Given the description of an element on the screen output the (x, y) to click on. 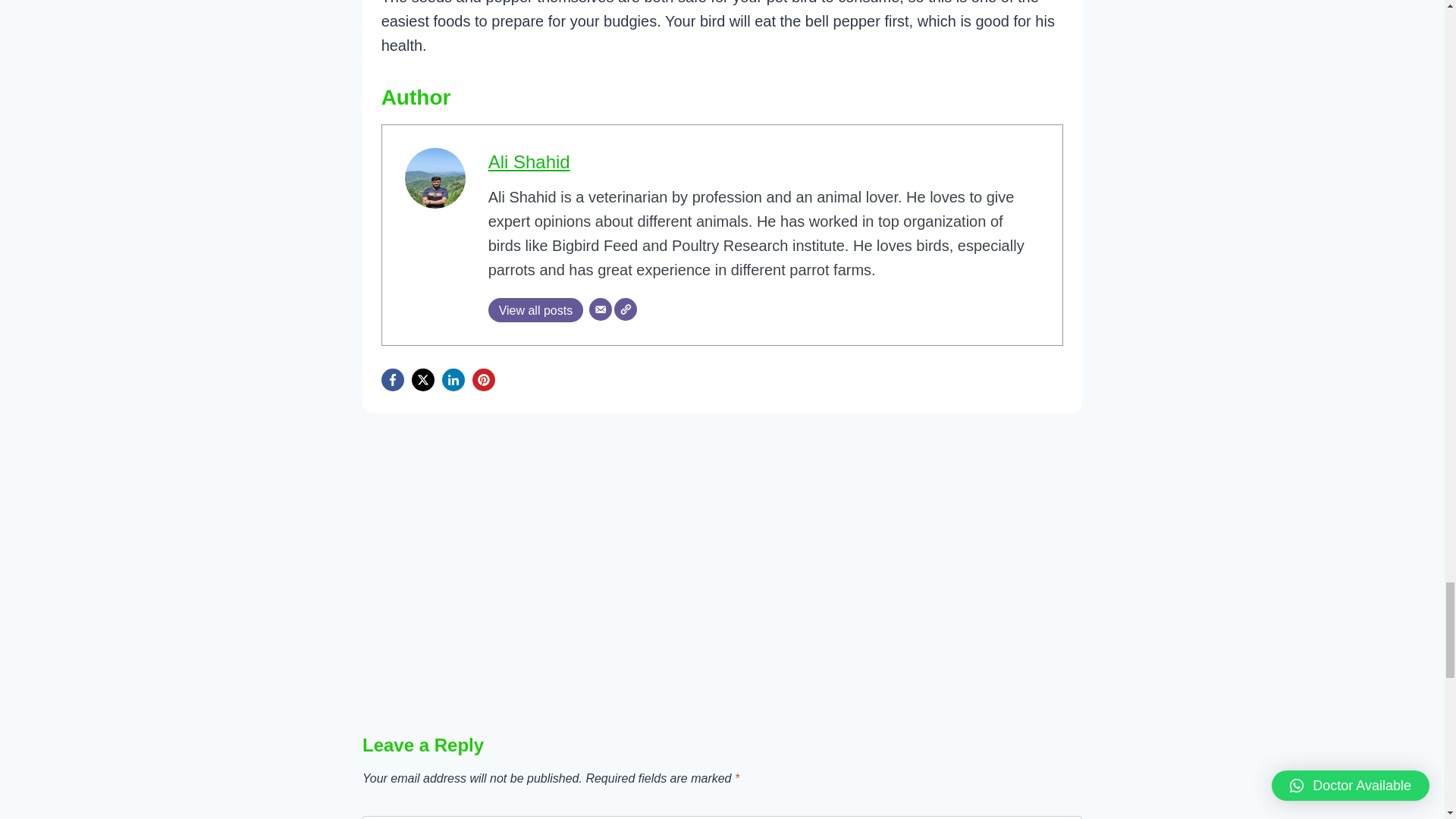
Ali Shahid (528, 161)
Ali Shahid (528, 161)
View all posts (535, 310)
